Given the description of an element on the screen output the (x, y) to click on. 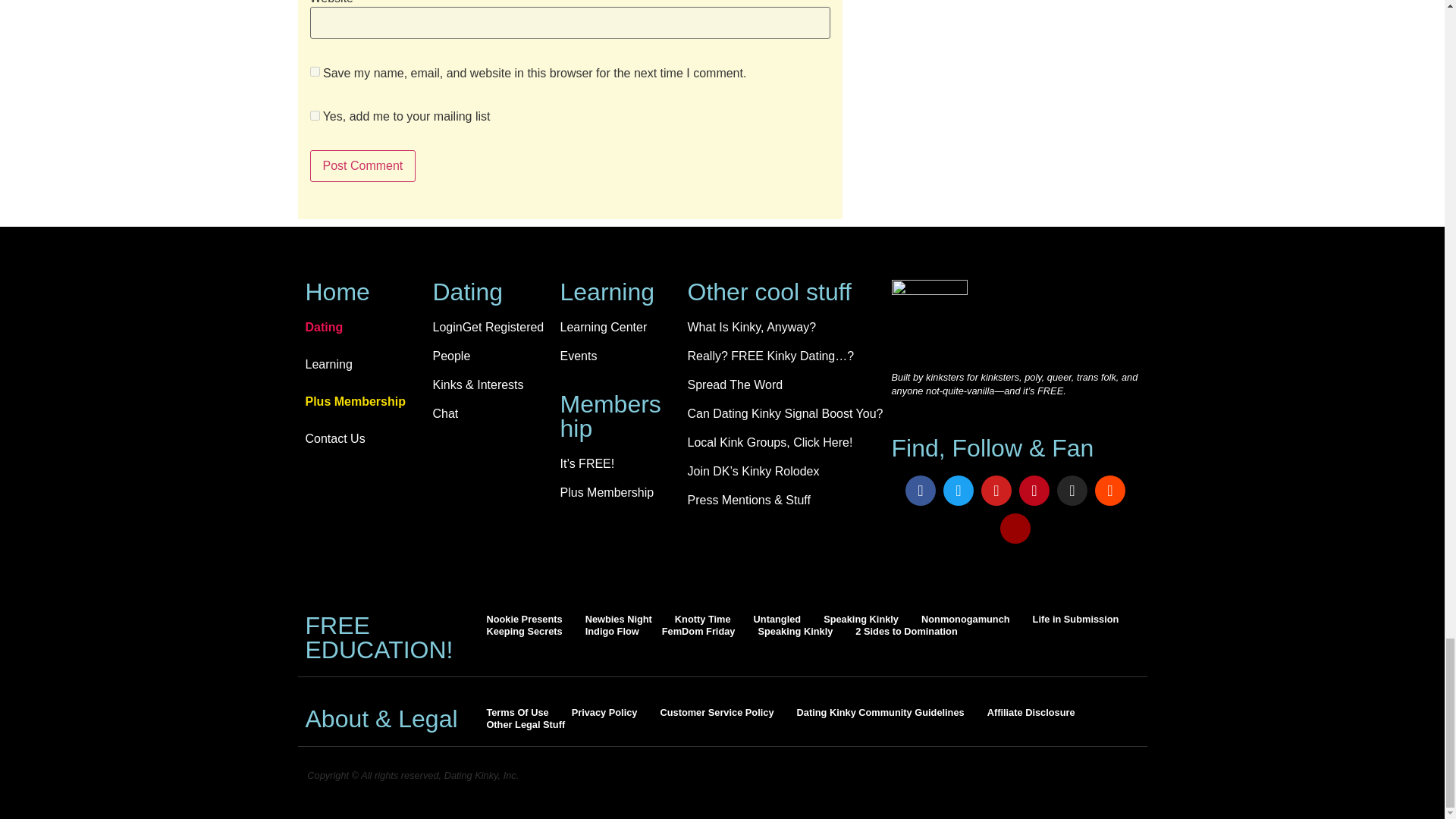
1 (313, 115)
Post Comment (361, 165)
Post Comment (361, 165)
yes (313, 71)
